Given the description of an element on the screen output the (x, y) to click on. 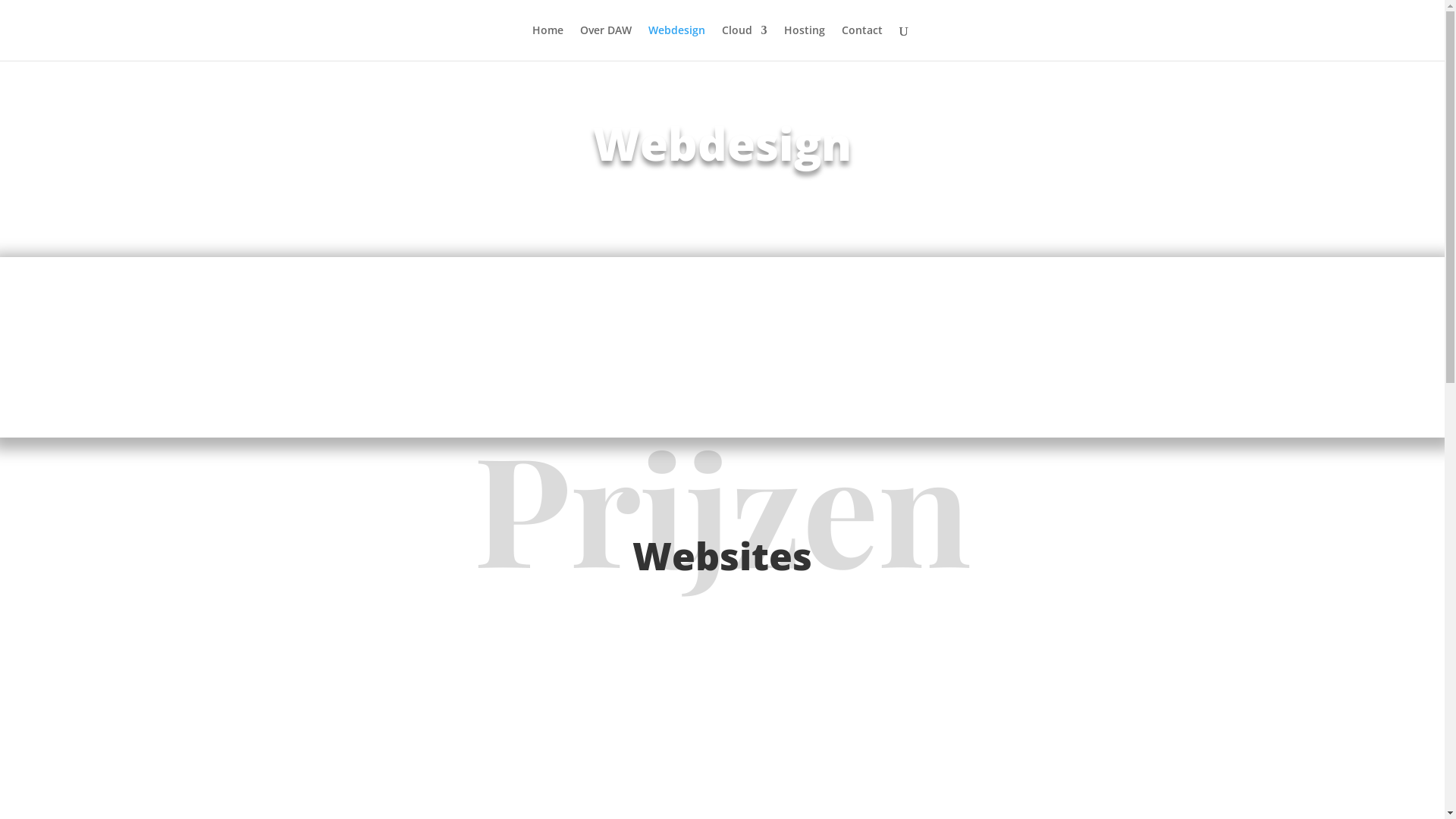
Over DAW Element type: text (604, 42)
Webdesign Element type: text (675, 42)
Hosting Element type: text (804, 42)
Cloud Element type: text (744, 42)
Contact Element type: text (861, 42)
Home Element type: text (547, 42)
